Given the description of an element on the screen output the (x, y) to click on. 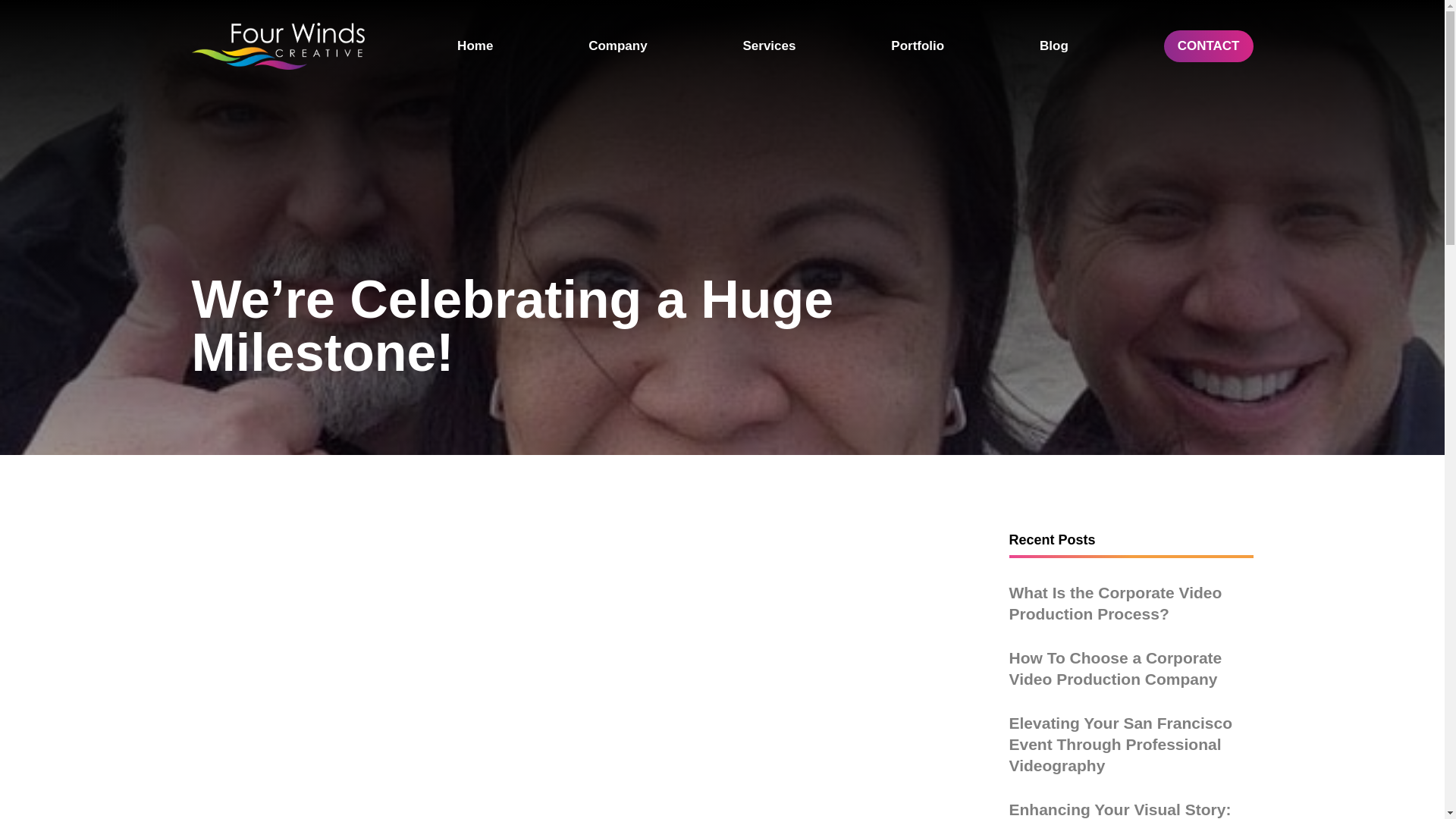
Company (617, 45)
Home (475, 45)
How To Choose a Corporate Video Production Company (1115, 668)
Portfolio (917, 45)
Services (769, 45)
What Is the Corporate Video Production Process? (1115, 602)
CONTACT (1208, 46)
Blog (1053, 45)
